Given the description of an element on the screen output the (x, y) to click on. 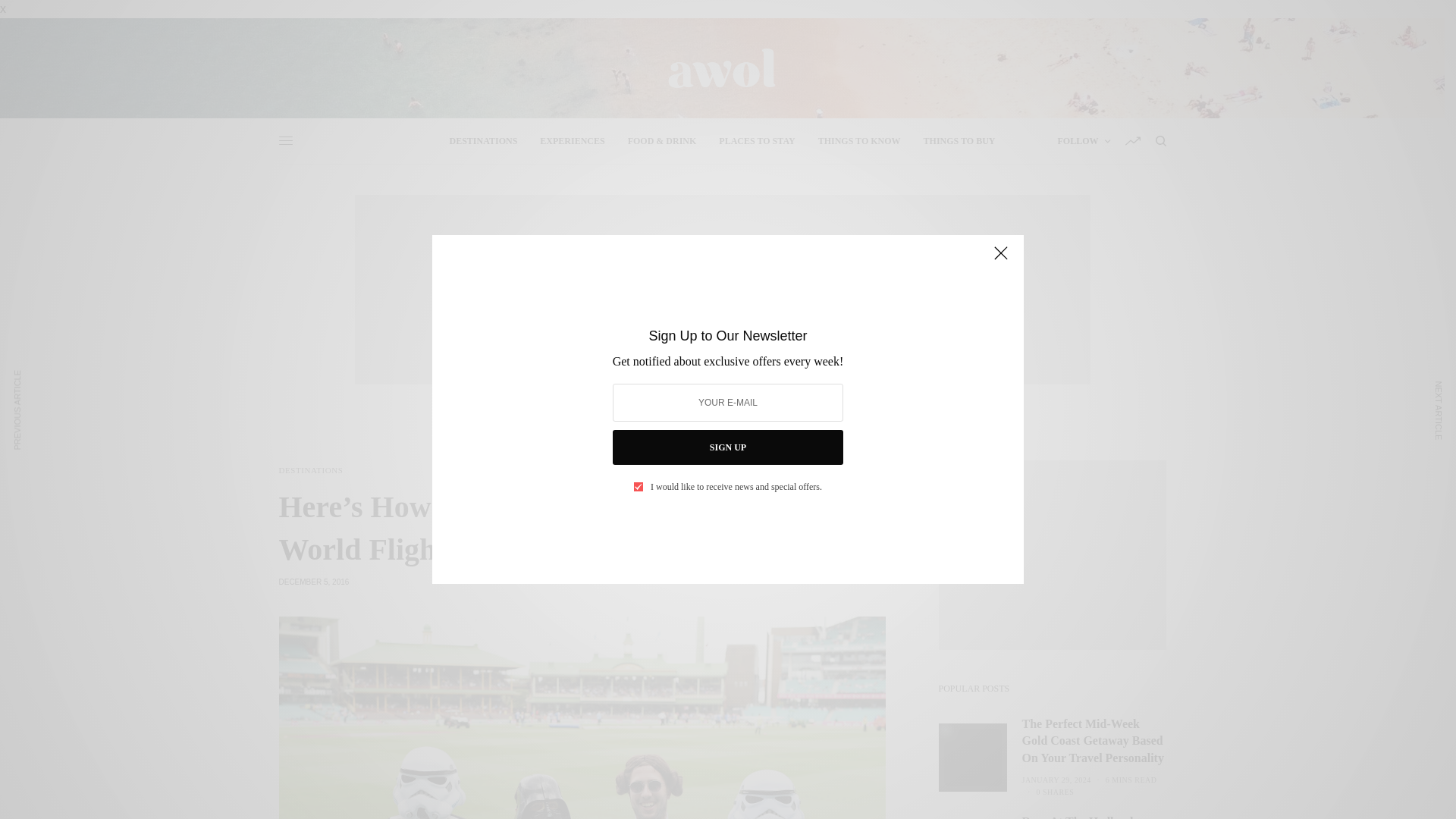
PLACES TO STAY (756, 140)
THINGS TO BUY (959, 140)
DESTINATIONS (311, 470)
FOLLOW (1083, 140)
AWOL (721, 67)
THINGS TO KNOW (859, 140)
EXPERIENCES (572, 140)
SIGN UP (728, 447)
DESTINATIONS (483, 140)
